Given the description of an element on the screen output the (x, y) to click on. 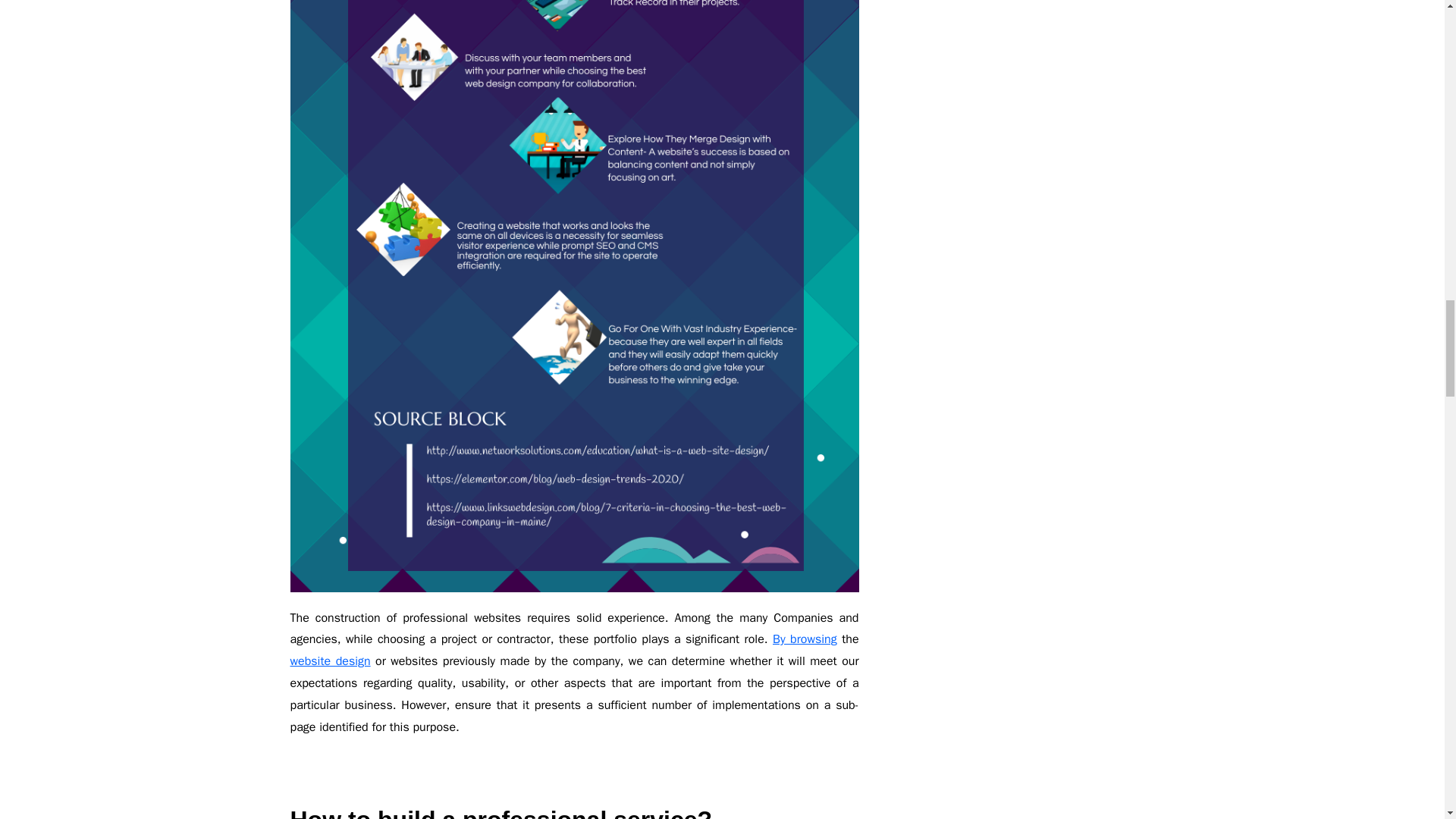
By browsing (805, 639)
website design (329, 661)
Evolution of Web Design (329, 661)
